Given the description of an element on the screen output the (x, y) to click on. 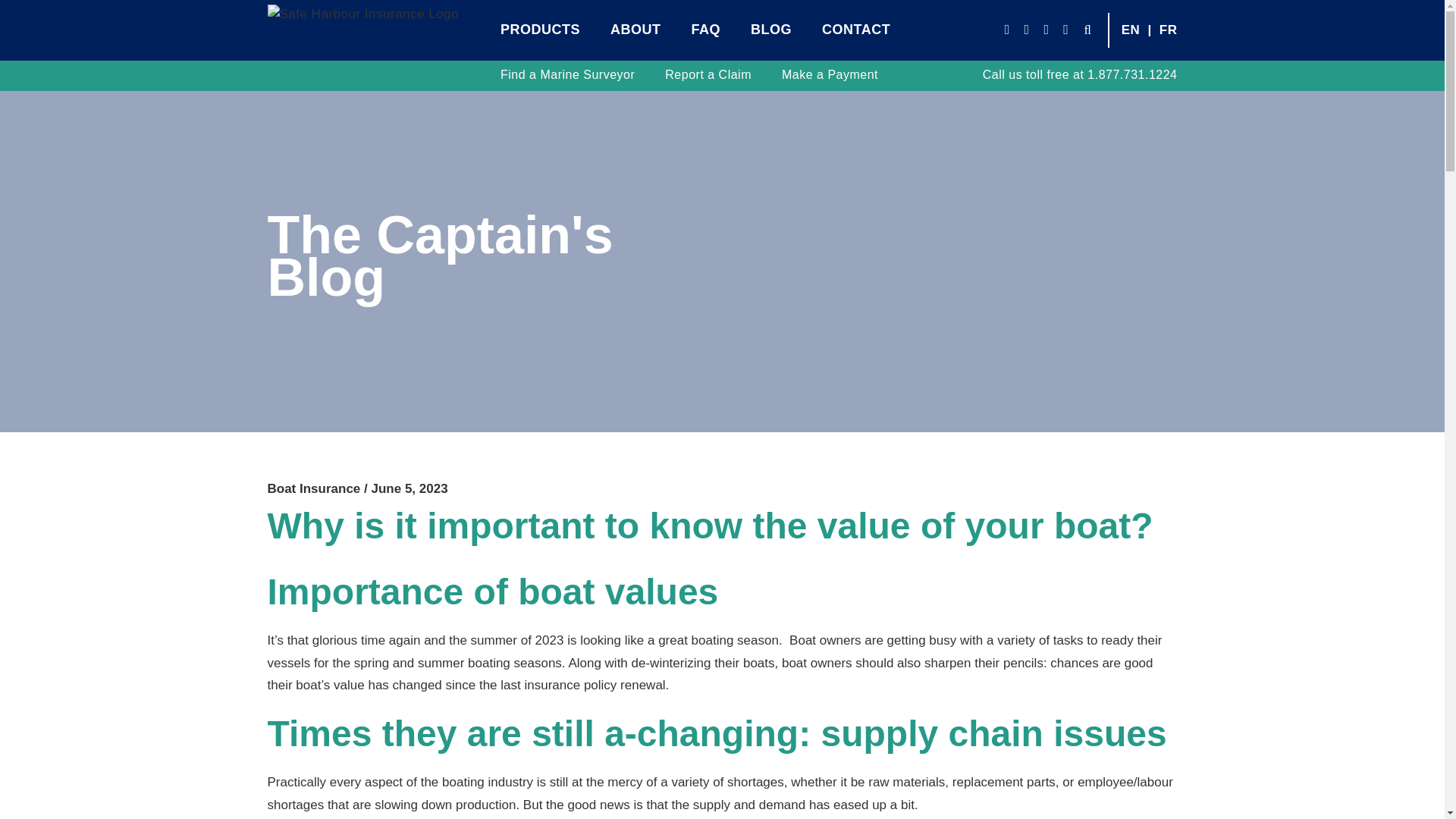
Find a Marine Surveyor (567, 74)
FAQ (705, 26)
EN (1130, 29)
1.877.731.1224 (1131, 74)
CONTACT (855, 26)
PRODUCTS (539, 26)
FR (1167, 29)
Make a Payment (829, 74)
Report a Claim (708, 74)
BLOG (771, 26)
